Given the description of an element on the screen output the (x, y) to click on. 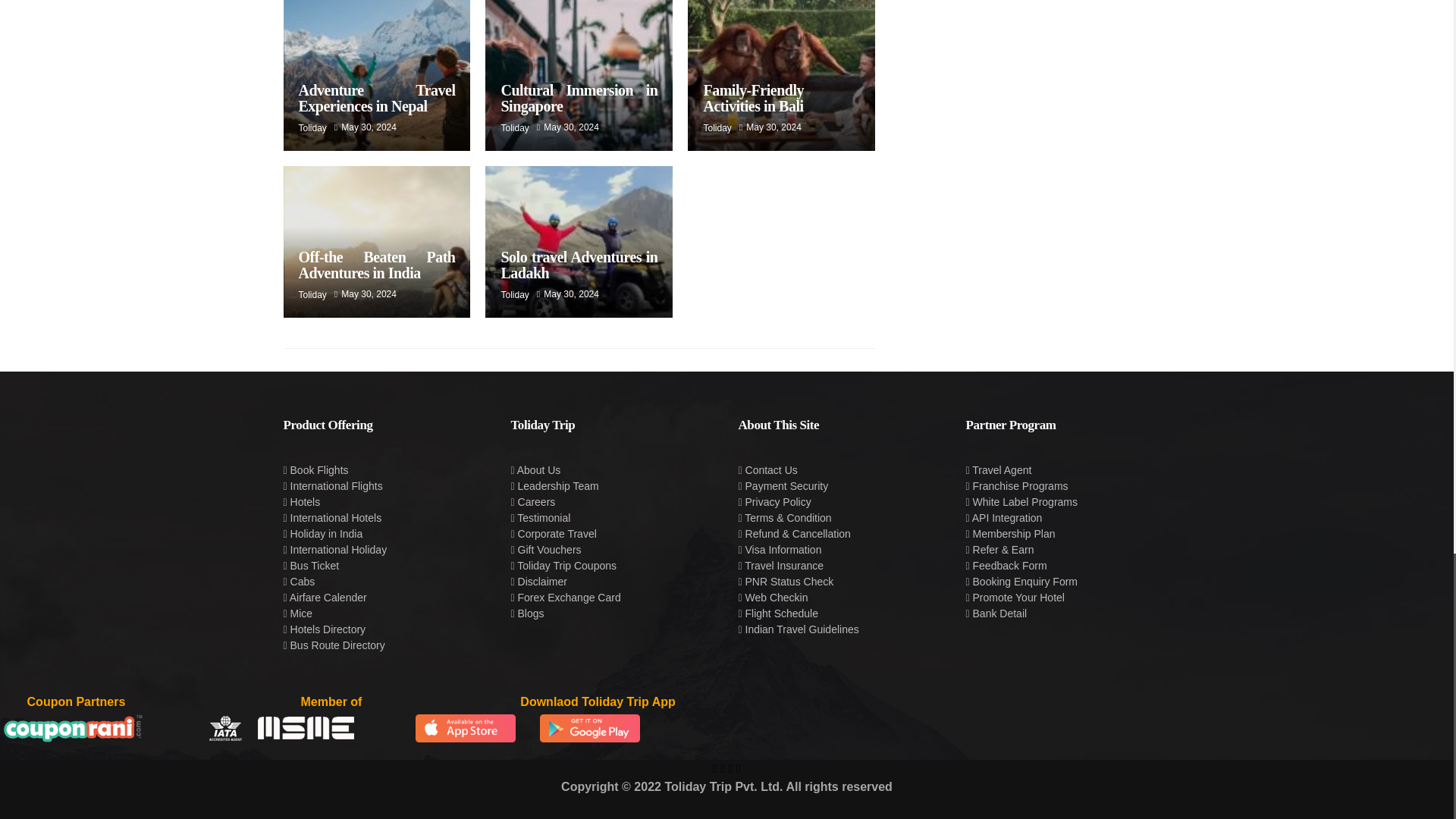
Toliday (514, 127)
Cultural Immersion in Singapore (579, 97)
Every people are enjoy with the job that they love (578, 75)
Toliday (716, 127)
Every people are enjoy with the job that they love (376, 75)
Adventure Travel Experiences in Nepal (376, 97)
Toliday (312, 127)
Family-Friendly Activities in Bali (753, 97)
